Given the description of an element on the screen output the (x, y) to click on. 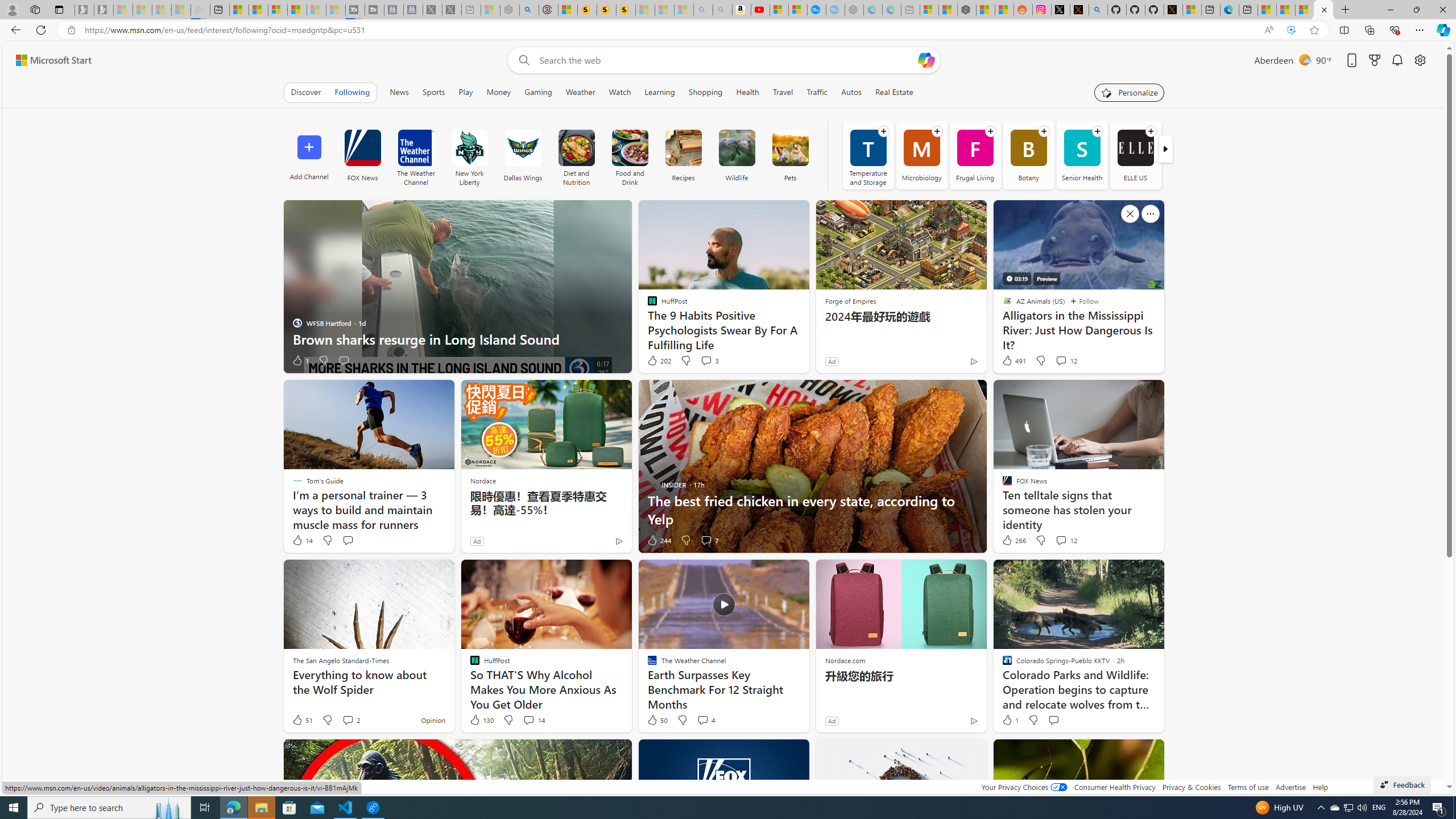
Recipes (683, 147)
View comments 3 Comment (709, 360)
Pets (789, 147)
Dallas Wings (522, 155)
View comments 4 Comment (703, 719)
Recipes (683, 155)
